Given the description of an element on the screen output the (x, y) to click on. 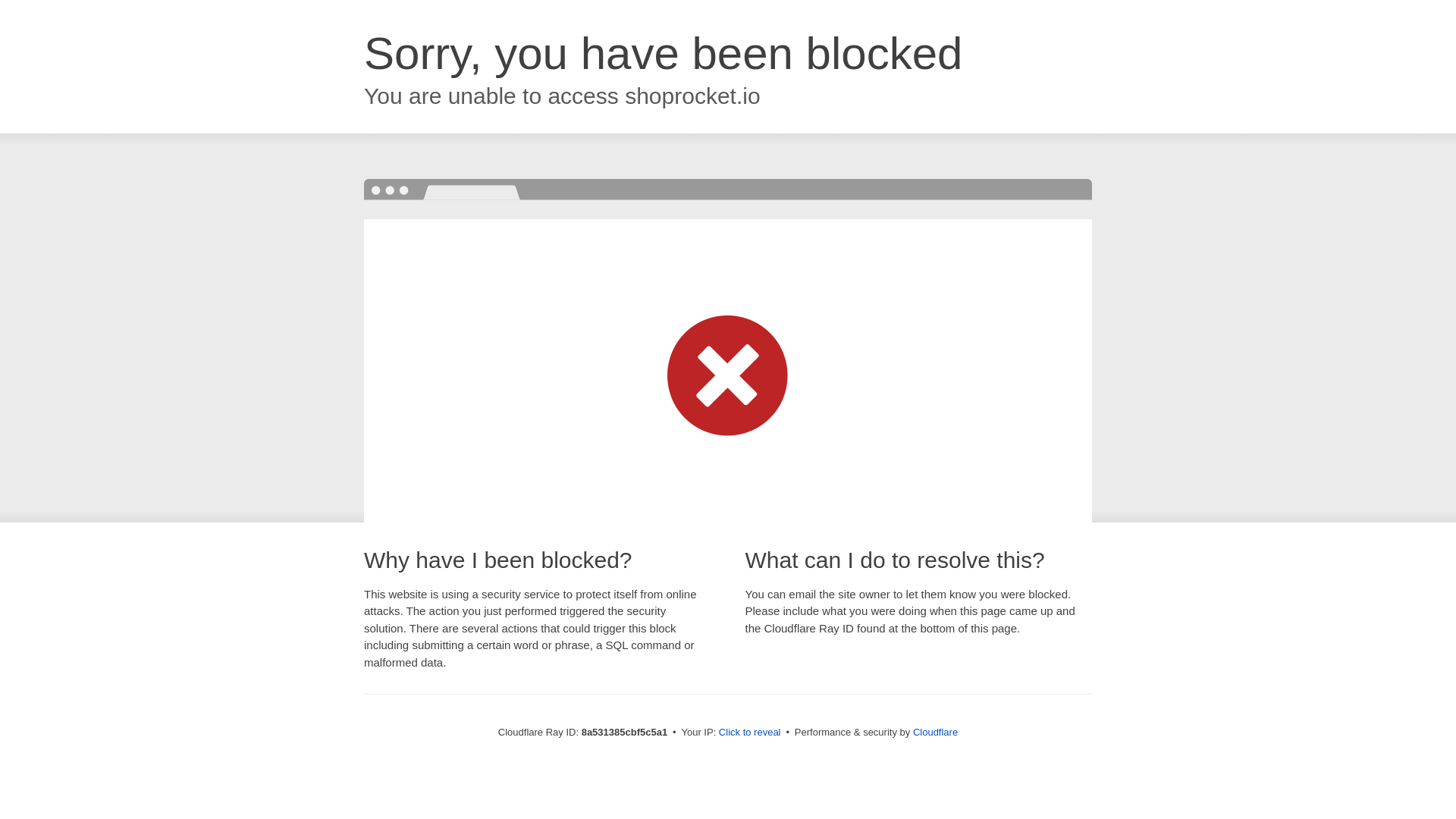
Cloudflare (935, 731)
Click to reveal (749, 732)
